Given the description of an element on the screen output the (x, y) to click on. 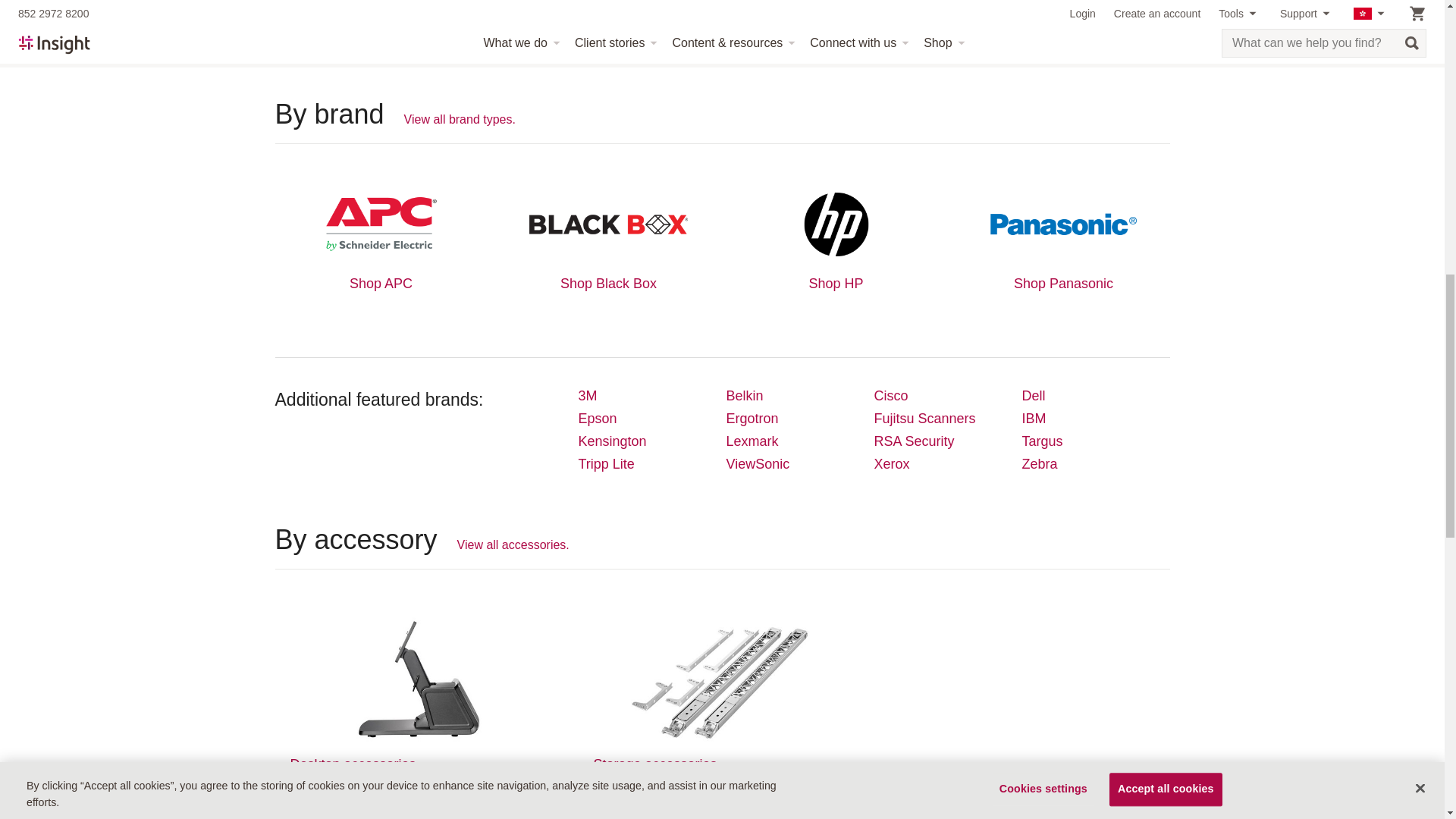
Storage accessories (721, 677)
HP (835, 224)
Black Box (607, 224)
Panasonic (1063, 224)
Desktop accessories (418, 677)
APC (380, 224)
